Given the description of an element on the screen output the (x, y) to click on. 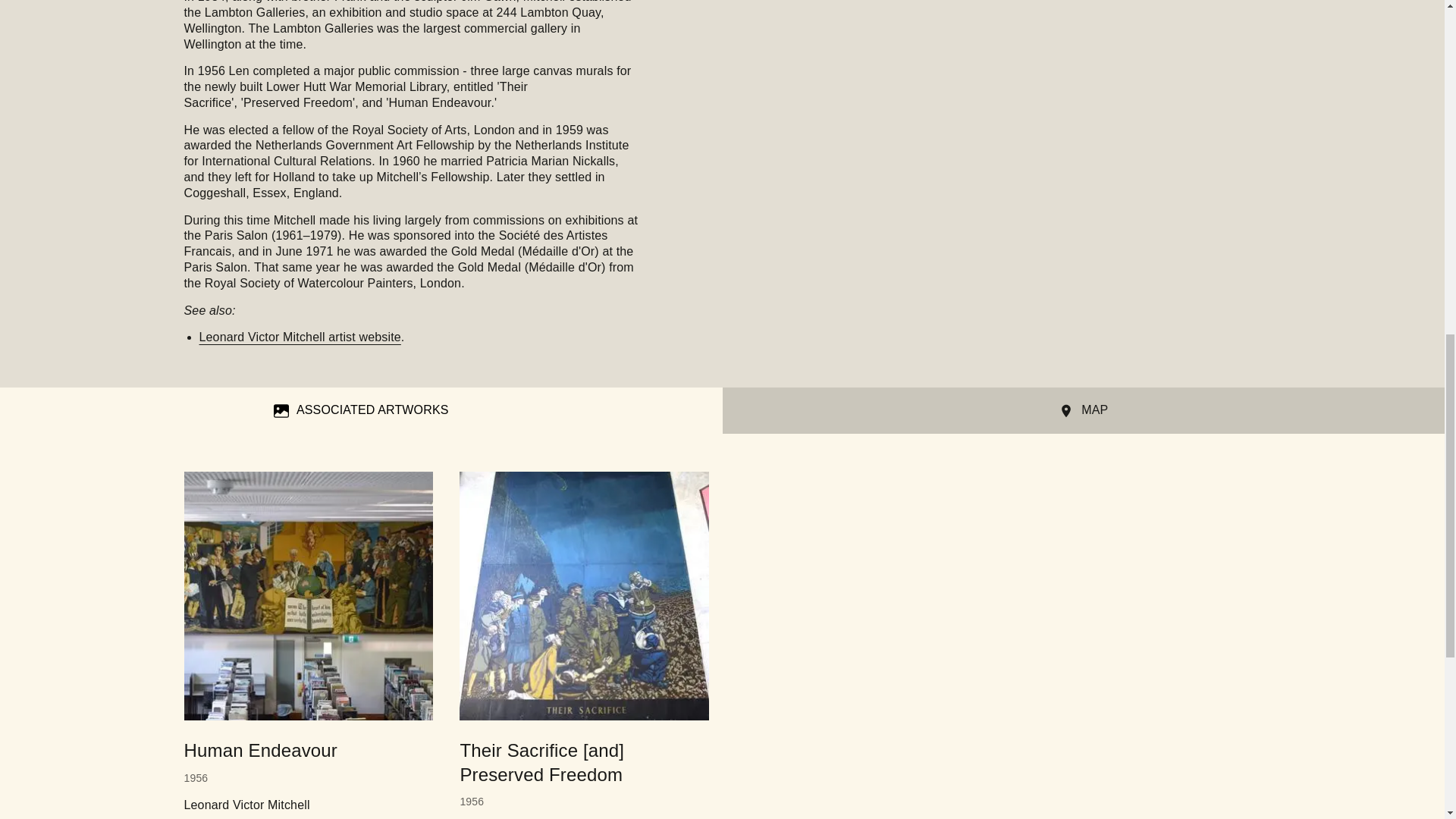
Leonard Victor Mitchell artist website (299, 336)
